Given the description of an element on the screen output the (x, y) to click on. 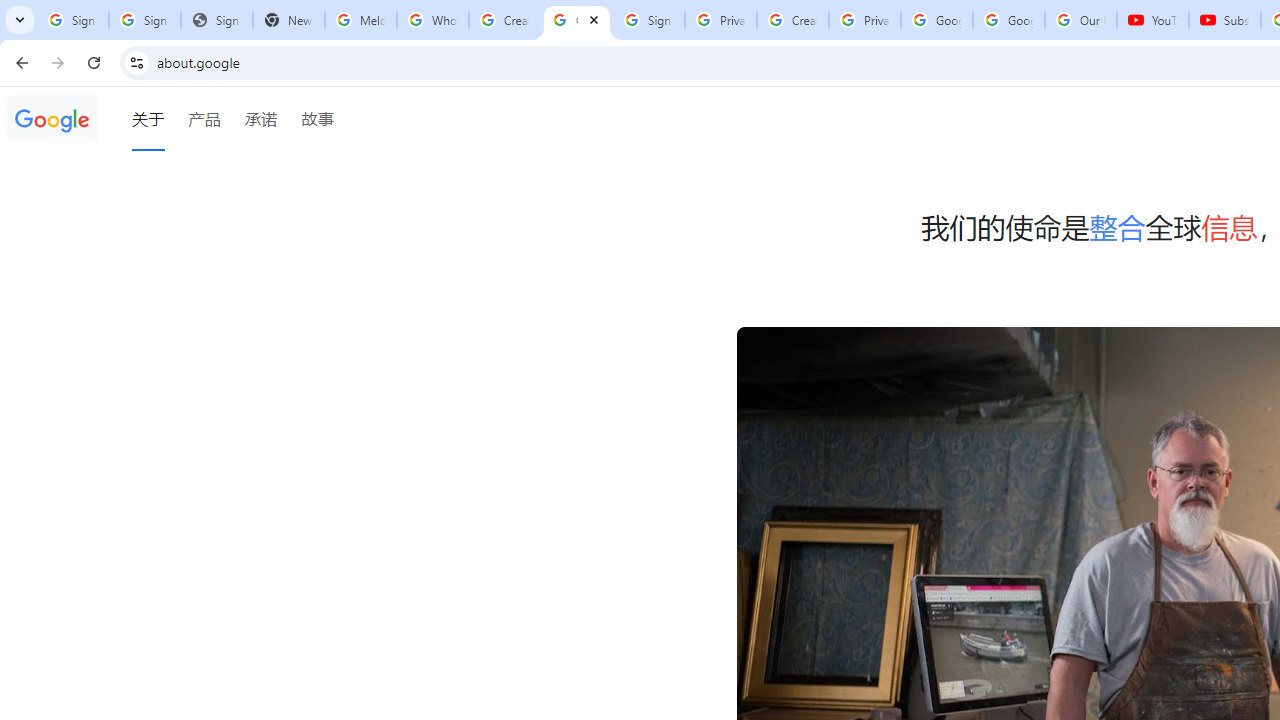
Sign in - Google Accounts (648, 20)
YouTube (1153, 20)
Subscriptions - YouTube (1224, 20)
Create your Google Account (504, 20)
